Given the description of an element on the screen output the (x, y) to click on. 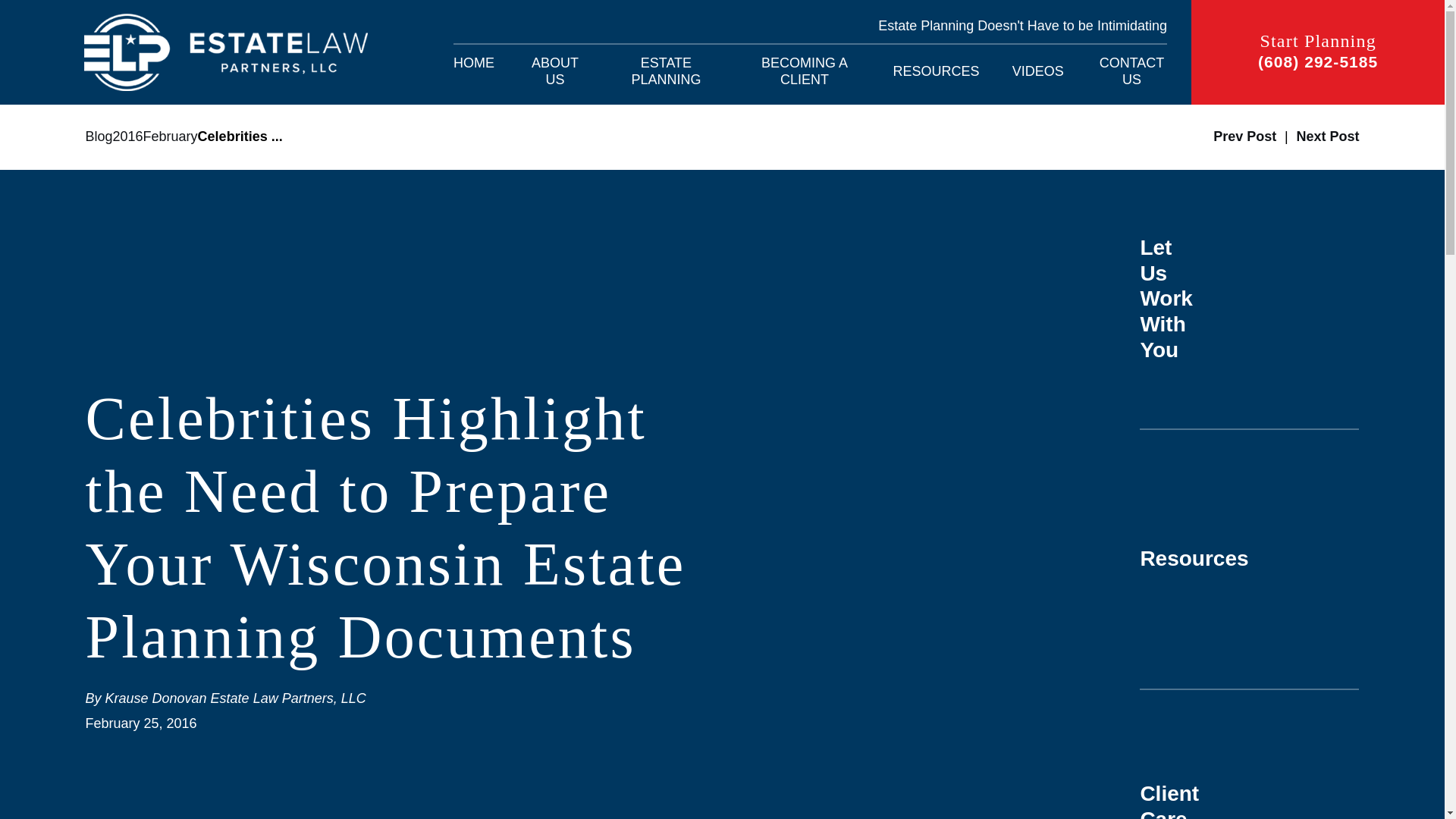
Estate Law Partners, LLC (226, 51)
BECOMING A CLIENT (804, 72)
RESOURCES (936, 71)
Open the accessibility options menu (1423, 798)
ABOUT US (555, 72)
ESTATE PLANNING (665, 72)
